Given the description of an element on the screen output the (x, y) to click on. 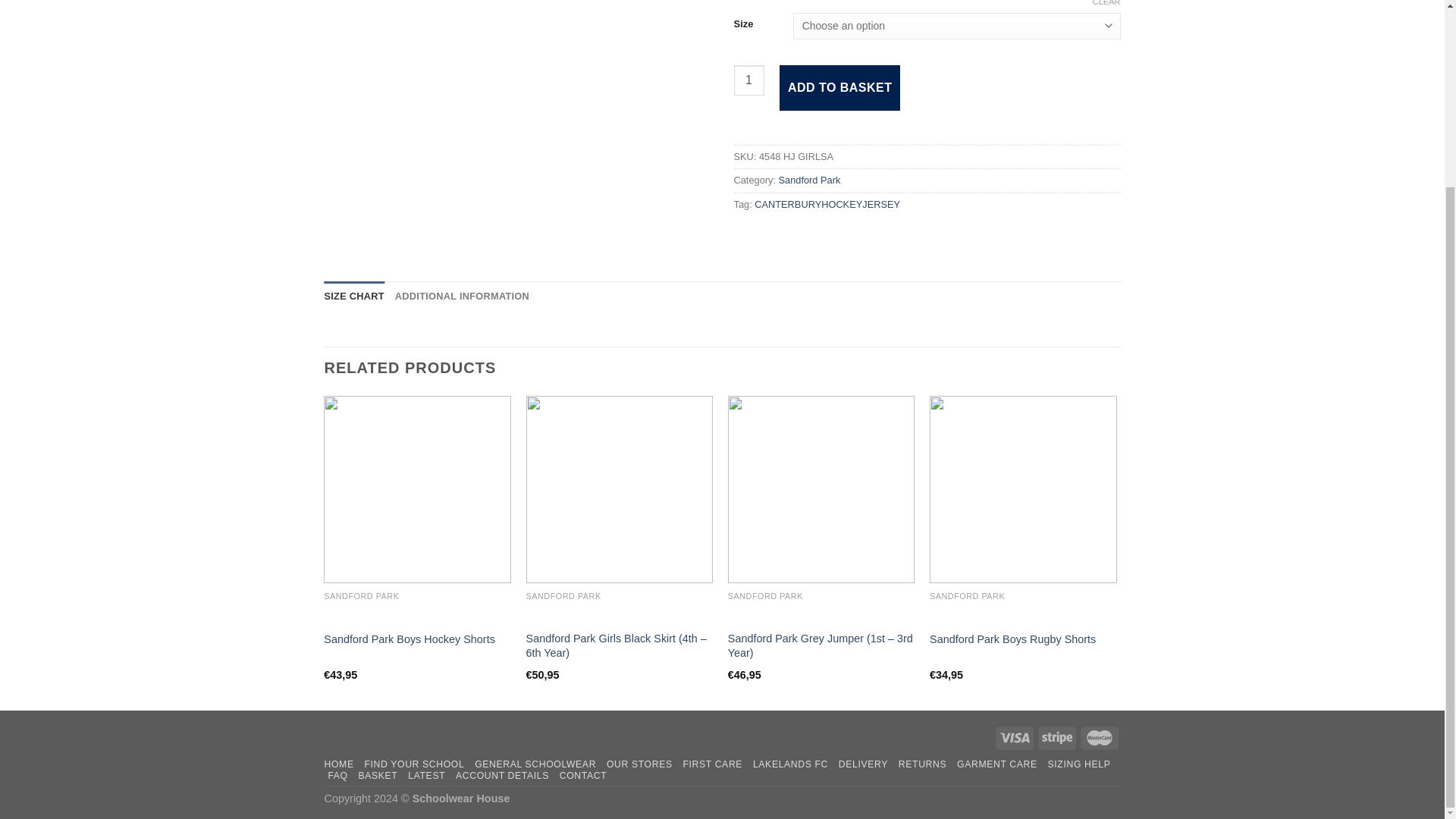
ADD TO BASKET (839, 87)
Sandford Park Boys Rugby Shorts (1013, 639)
Sandford Park Boys Hockey Shorts (409, 639)
ADDITIONAL INFORMATION (461, 296)
CLEAR (1107, 3)
Sandford Park (809, 179)
CANTERBURYHOCKEYJERSEY (826, 204)
1 (748, 80)
SIZE CHART (354, 296)
